Given the description of an element on the screen output the (x, y) to click on. 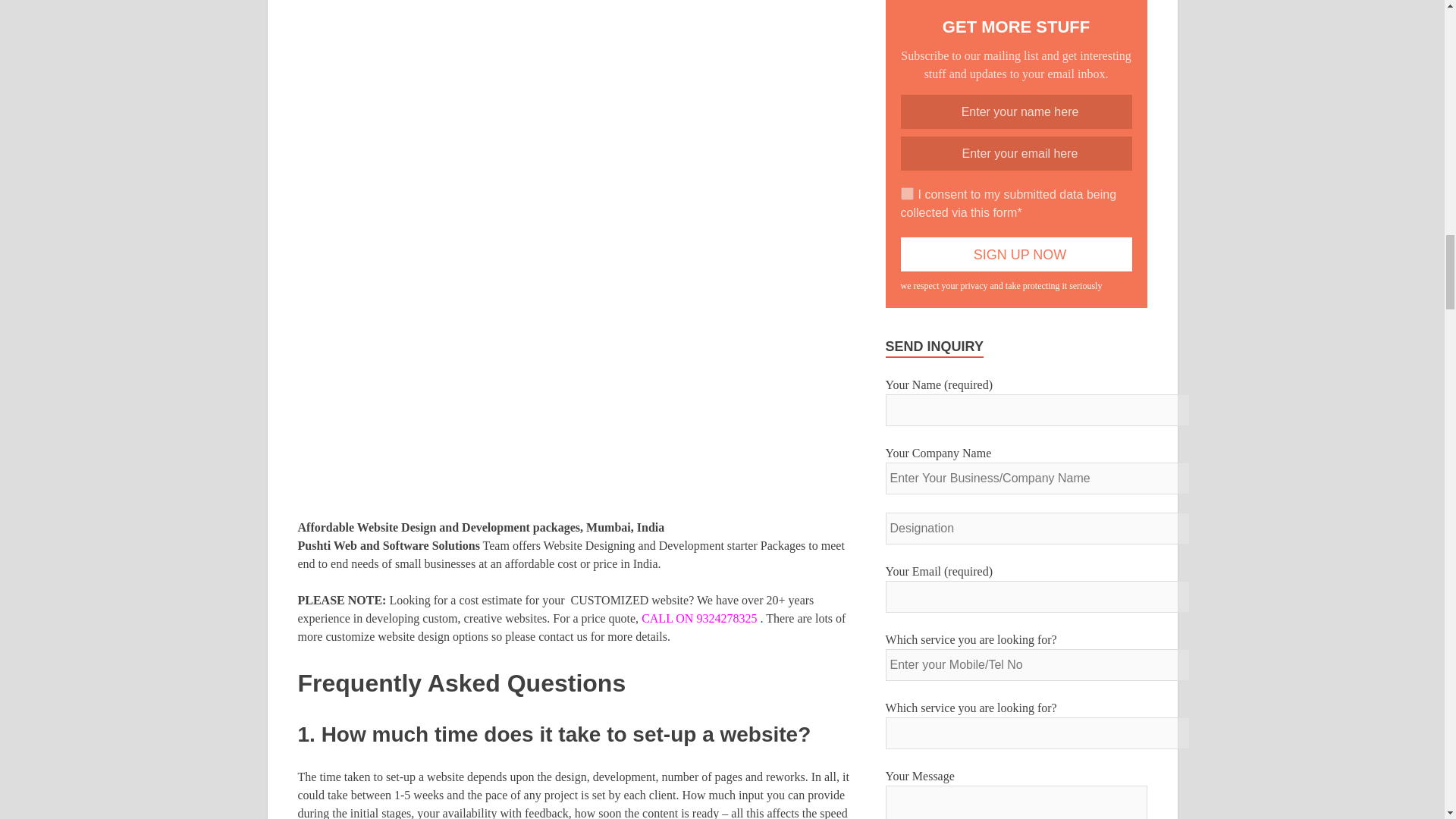
on (907, 193)
Enter your name here (1016, 111)
Sign Up Now (1016, 254)
Enter your email here (1016, 153)
